Given the description of an element on the screen output the (x, y) to click on. 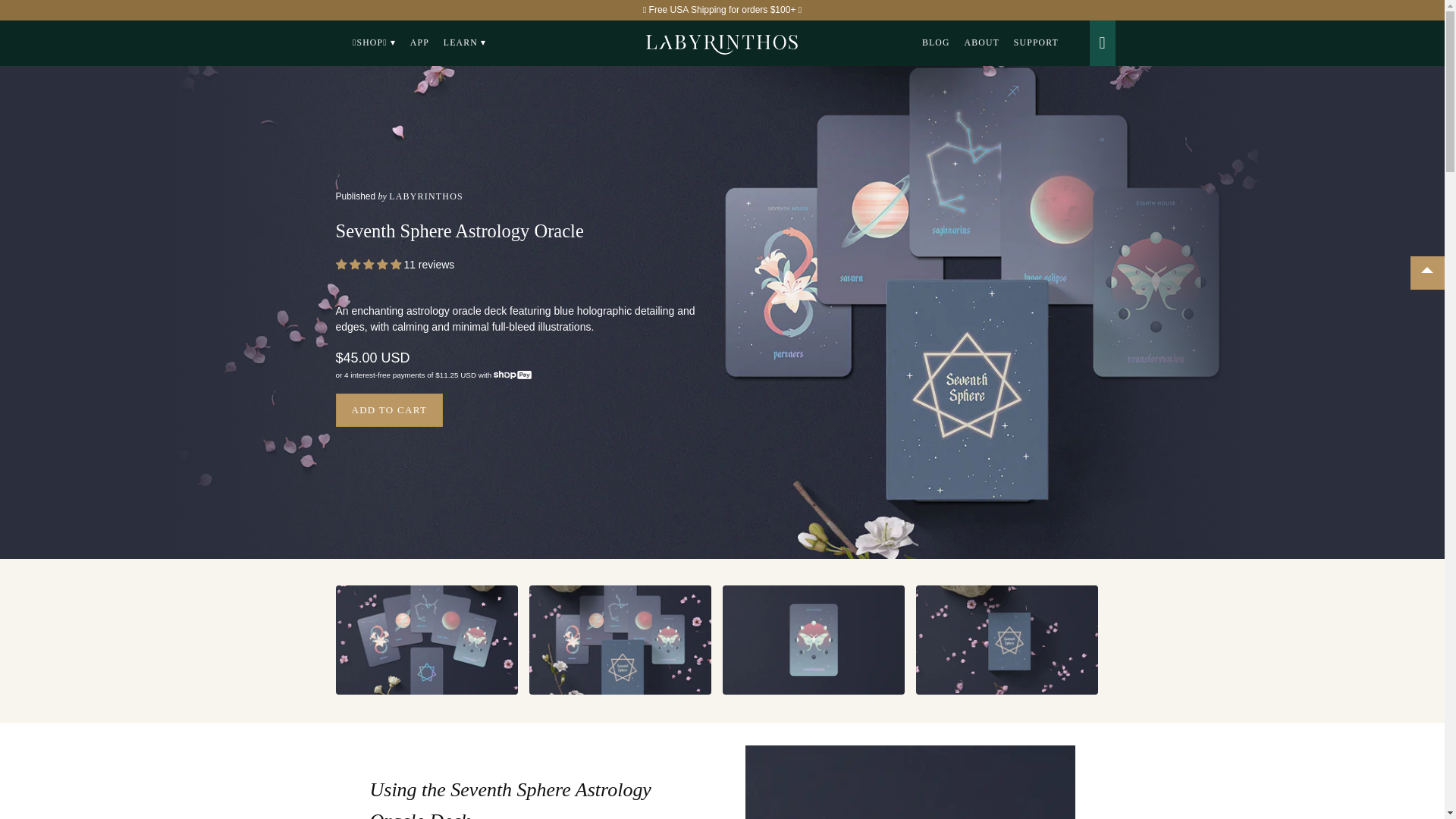
APP (418, 43)
